Given the description of an element on the screen output the (x, y) to click on. 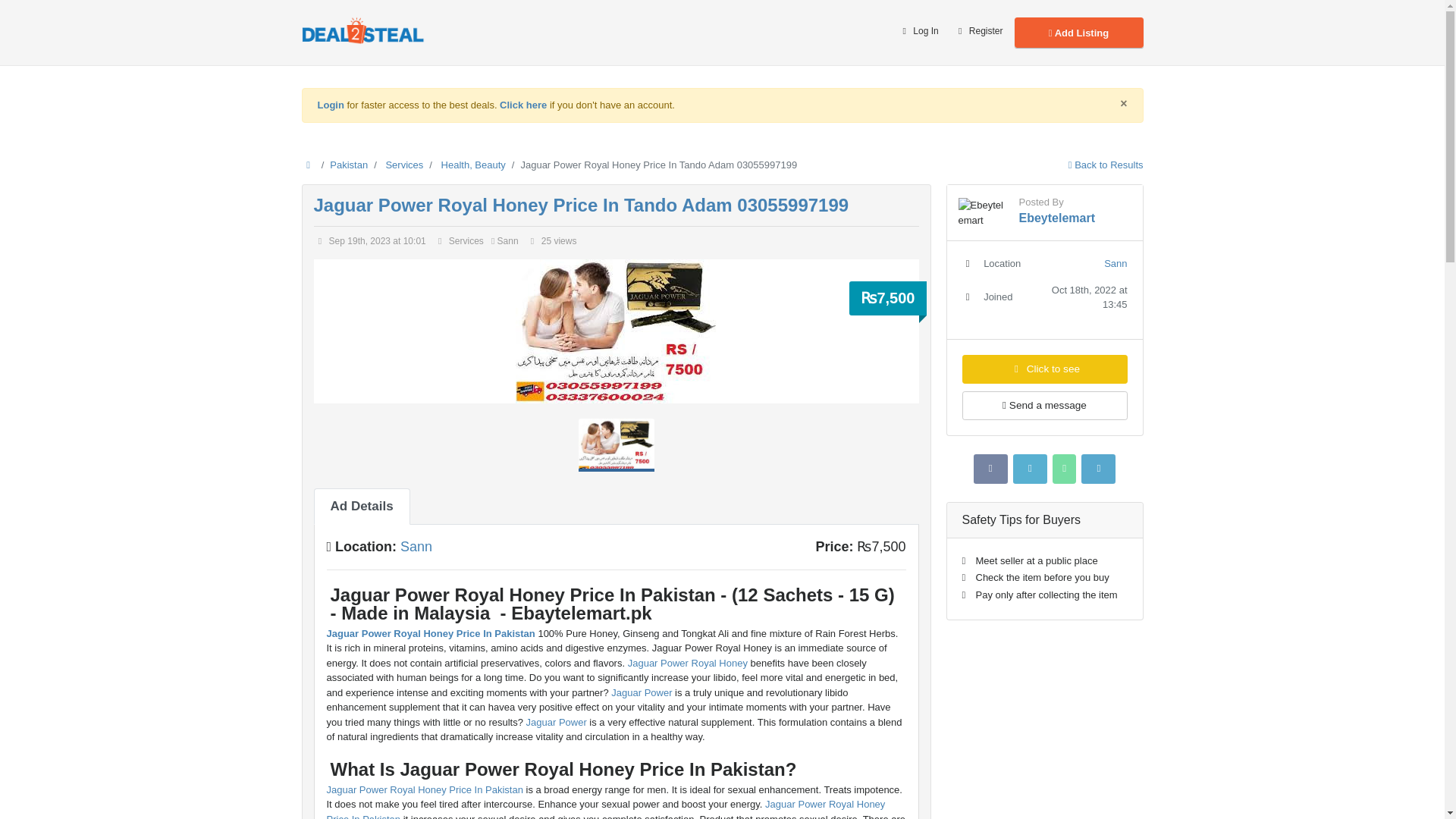
Pakistan (349, 164)
Back to Results (1105, 164)
Jaguar Power Royal Honey Price In Pakistan (424, 789)
Jaguar Power Royal Honey  (689, 662)
Log In (916, 32)
Add Listing (1078, 32)
Login (330, 104)
Jaguar Power (641, 692)
Jaguar Power Royal Honey Price In Pakistan (430, 633)
Sann (416, 545)
Services (404, 164)
Jaguar Power Royal Honey Price In Pakistan (605, 808)
Jaguar Power Royal Honey Price In Tando Adam	03055997199 (581, 204)
Register (978, 32)
Jaguar Power Royal Honey Price In Tando Adam 03055997199 (581, 204)
